Given the description of an element on the screen output the (x, y) to click on. 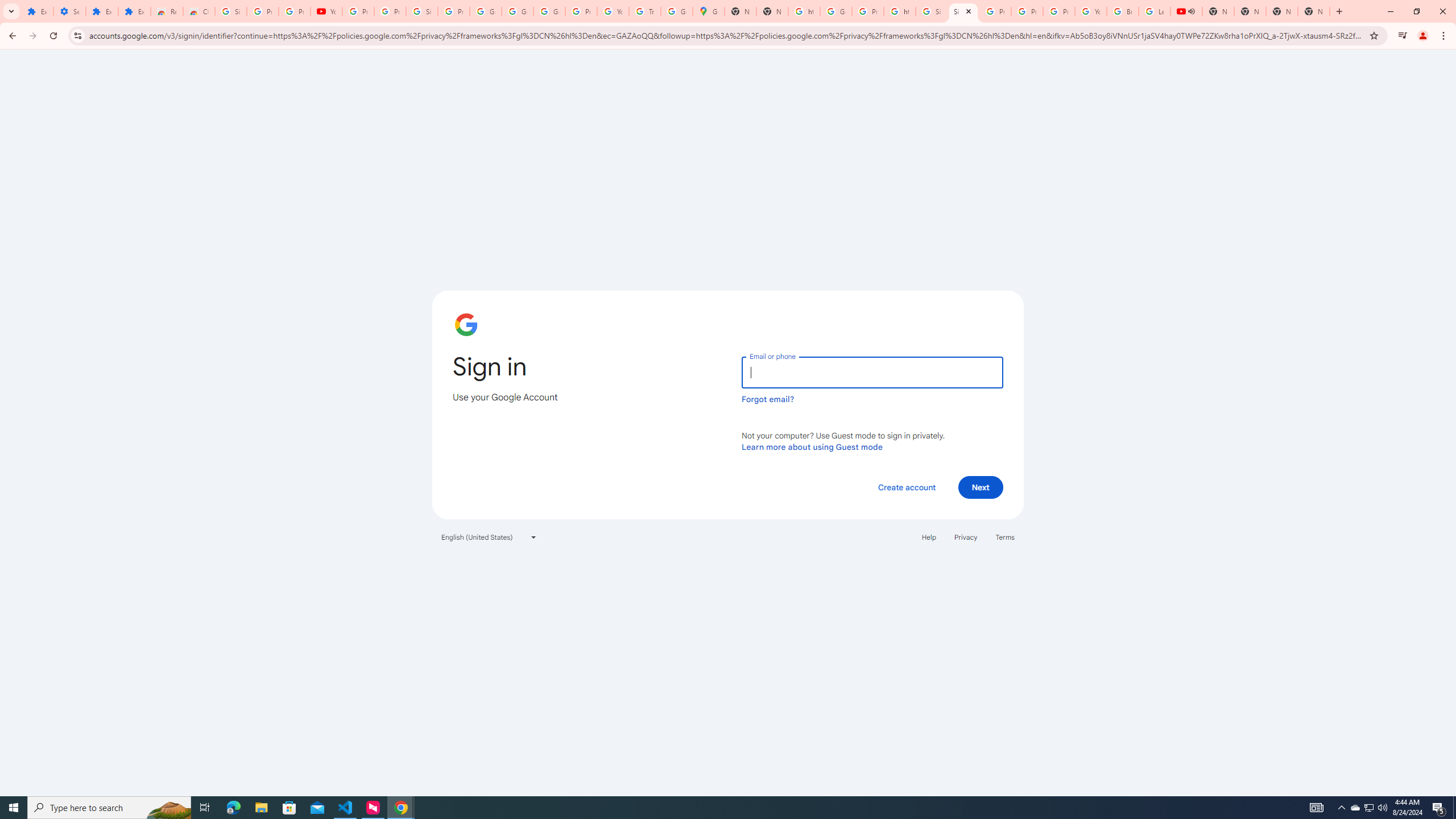
Extensions (134, 11)
Chrome Web Store - Themes (198, 11)
Google Account (485, 11)
https://scholar.google.com/ (899, 11)
Extensions (37, 11)
Next (980, 486)
